Given the description of an element on the screen output the (x, y) to click on. 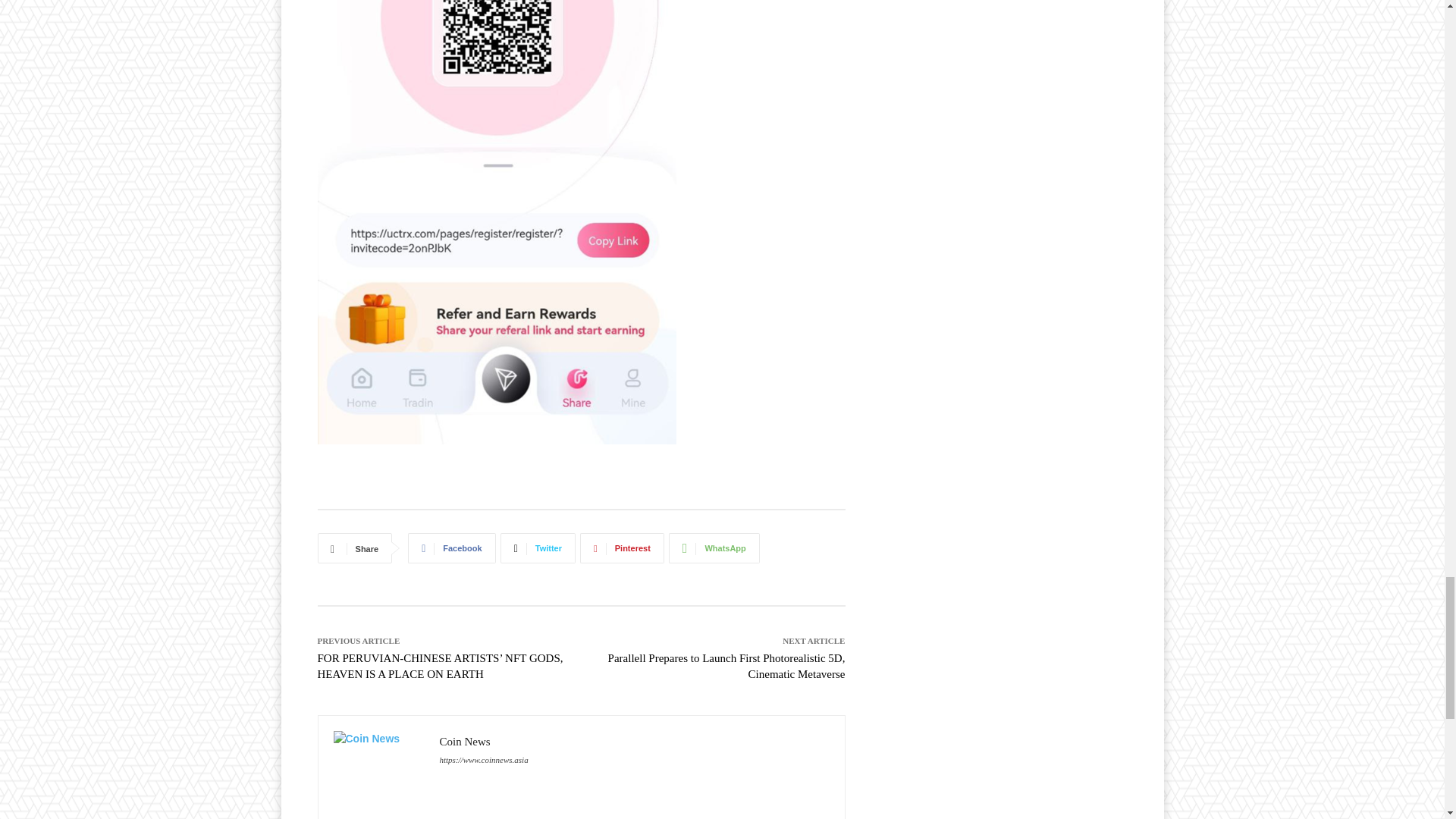
Coin News (379, 767)
Twitter (537, 548)
Facebook (451, 548)
WhatsApp (714, 548)
Pinterest (621, 548)
WhatsApp (714, 548)
Facebook (451, 548)
Coin News (483, 741)
Twitter (537, 548)
Pinterest (621, 548)
